Given the description of an element on the screen output the (x, y) to click on. 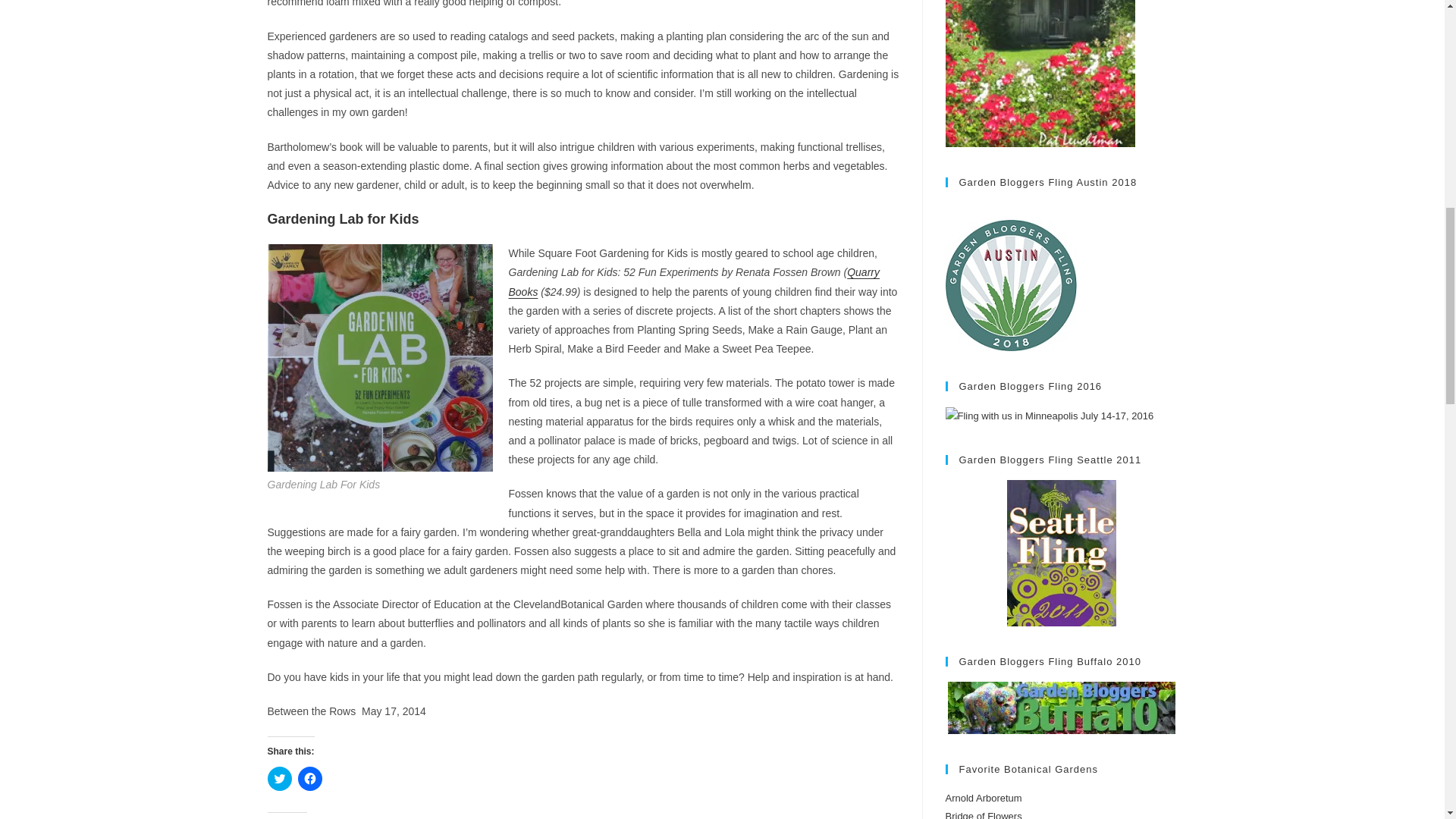
Click to share on Twitter (278, 778)
Quarry Books (693, 281)
Minneapolis 2016 (1048, 414)
Click to share on Facebook (309, 778)
